Given the description of an element on the screen output the (x, y) to click on. 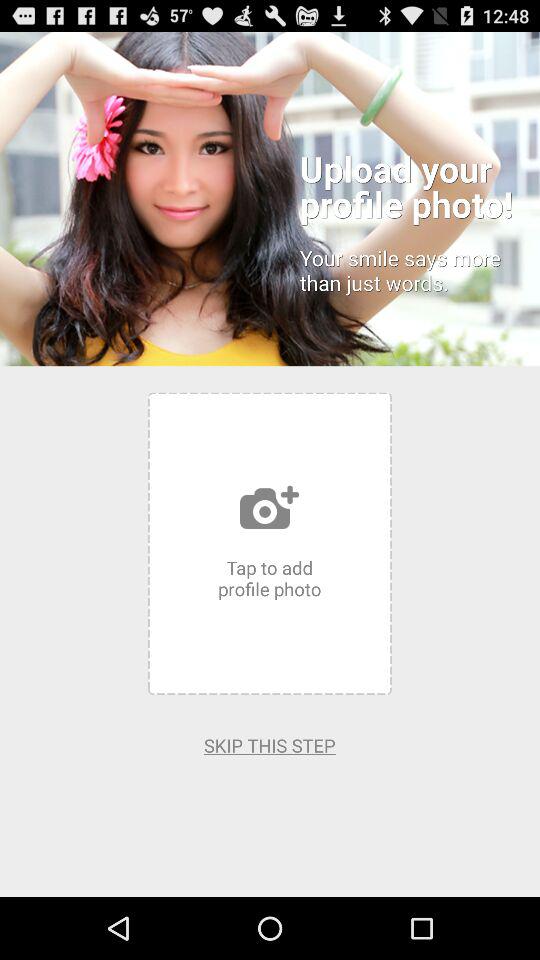
flip to the skip this step (269, 745)
